Given the description of an element on the screen output the (x, y) to click on. 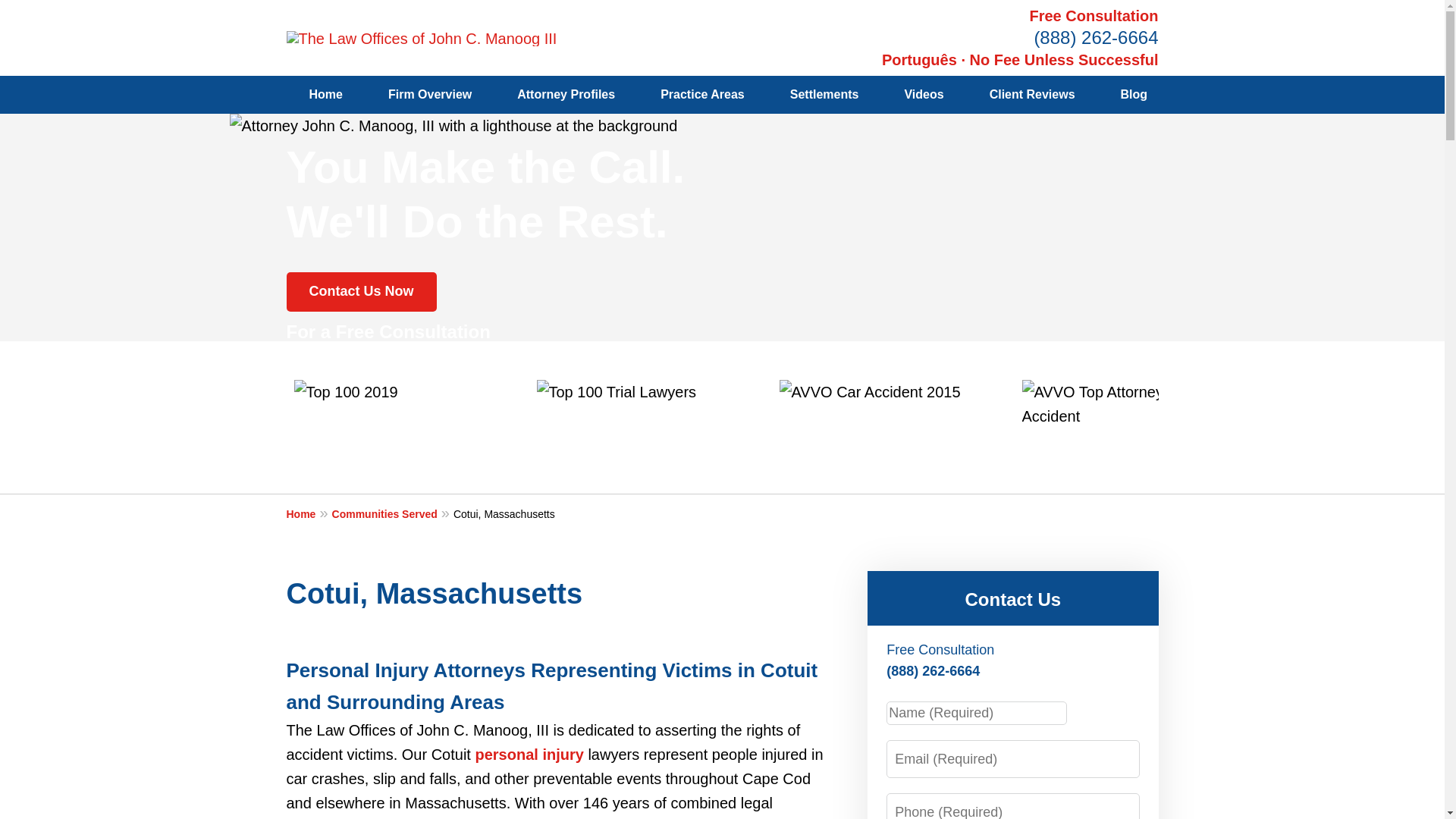
Settlements (824, 94)
Contact Us (1012, 598)
Blog (1133, 94)
Attorney Profiles (566, 94)
Communities Served (391, 513)
Contact Us Now (361, 291)
Home (325, 94)
Practice Areas (702, 94)
Home (308, 513)
Firm Overview (430, 94)
